Given the description of an element on the screen output the (x, y) to click on. 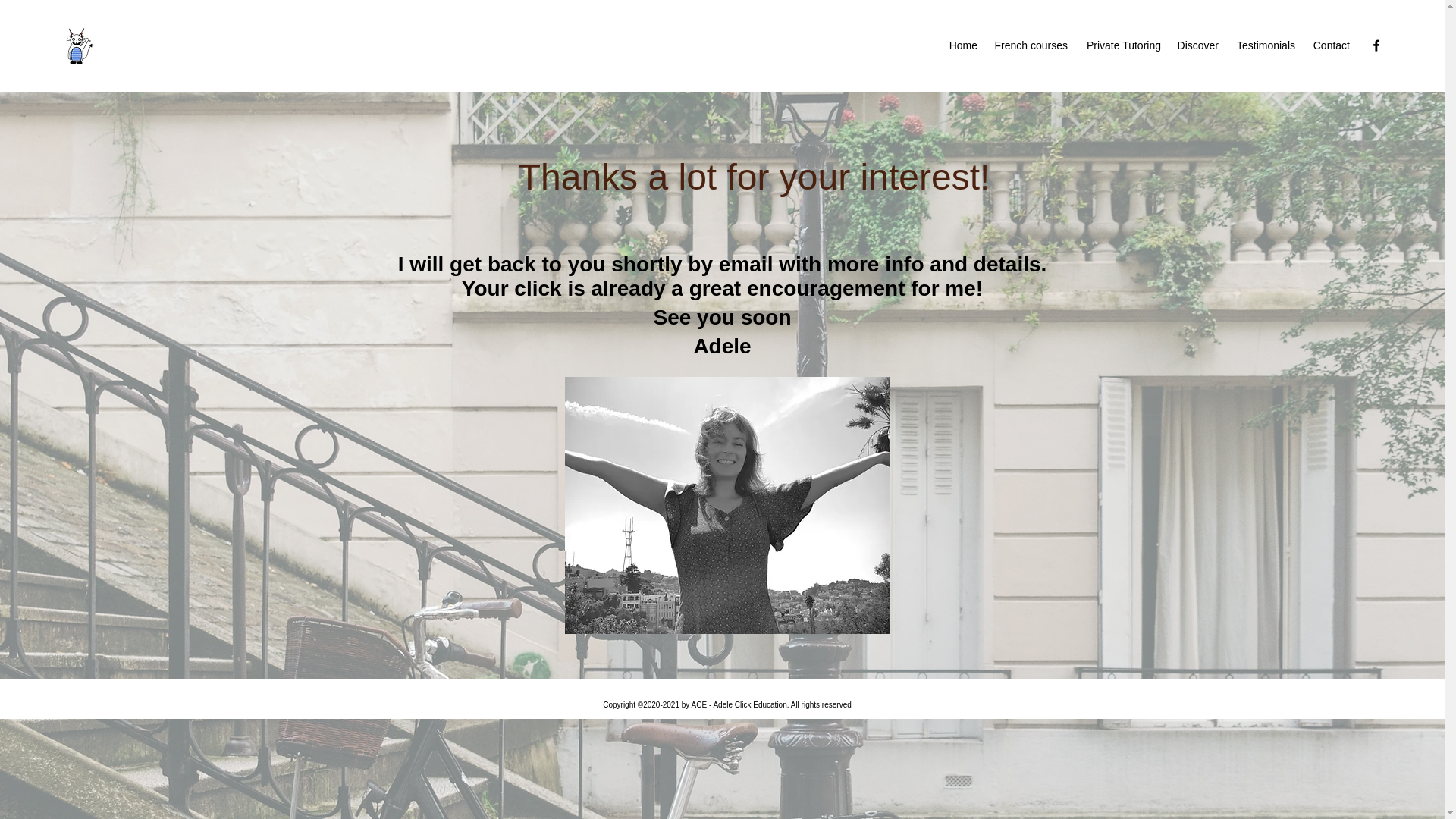
French courses (1030, 45)
Home (962, 45)
Discover (1197, 45)
Private Tutoring (1122, 45)
Testimonials (1264, 45)
Contact (1329, 45)
